Given the description of an element on the screen output the (x, y) to click on. 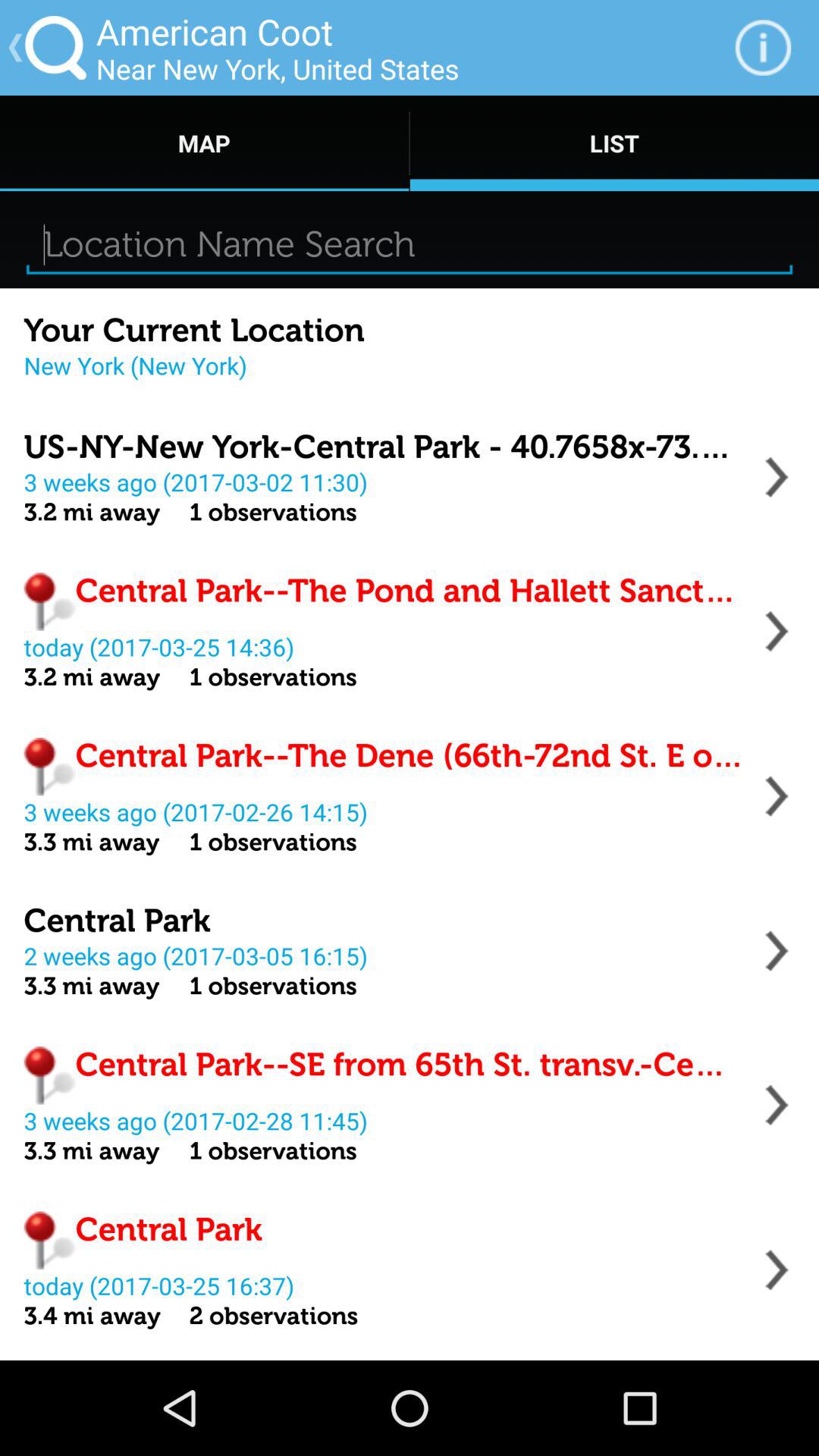
turn on the item to the right of the near new york item (763, 47)
